Given the description of an element on the screen output the (x, y) to click on. 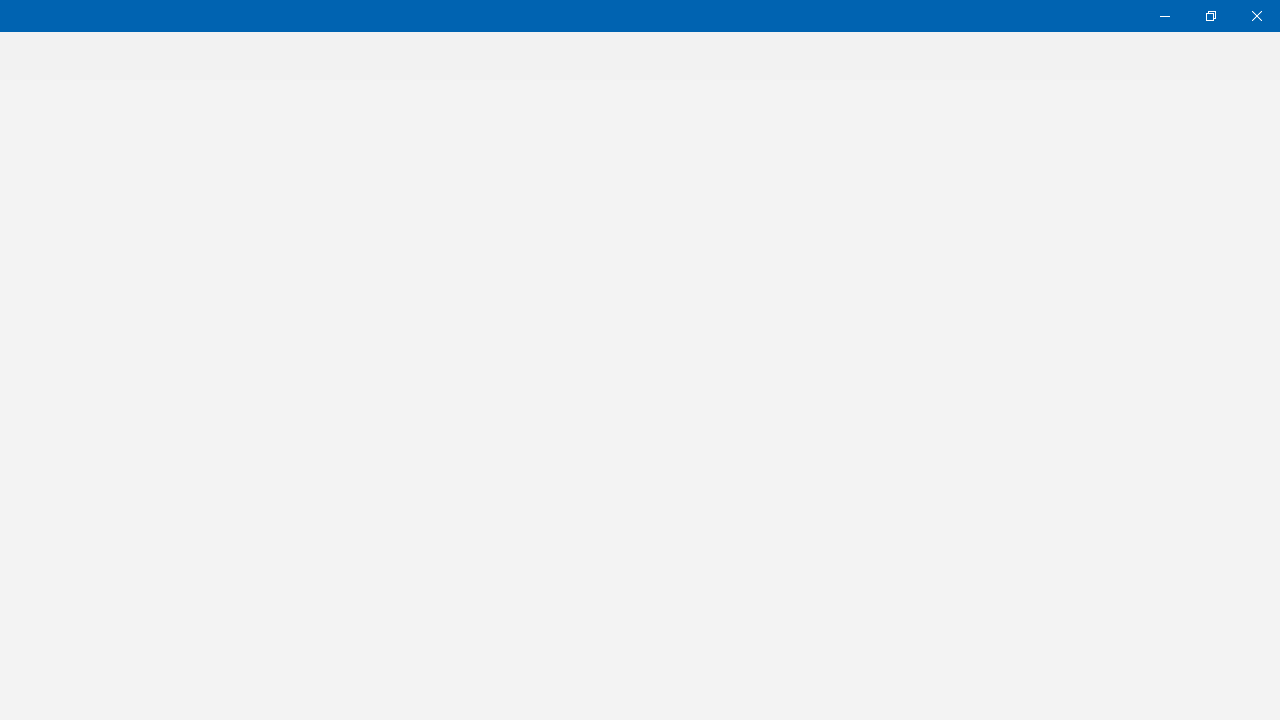
Restore Weather (1210, 15)
Vertical Small Decrease (1272, 86)
Minimize Weather (1164, 15)
Close Weather (1256, 15)
